Given the description of an element on the screen output the (x, y) to click on. 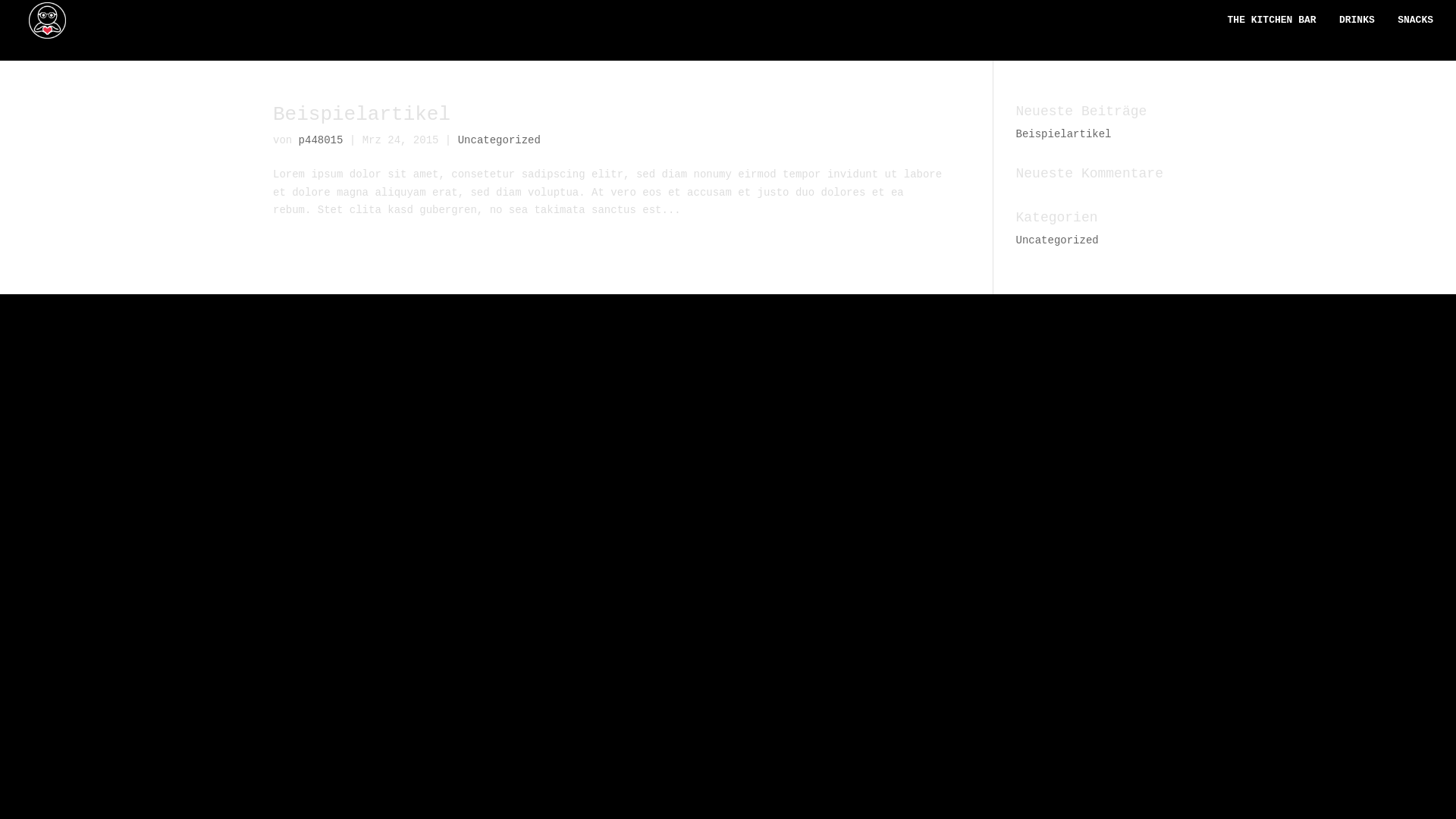
Uncategorized Element type: text (499, 140)
SNACKS Element type: text (1415, 27)
THE KITCHEN BAR Element type: text (1271, 27)
Beispielartikel Element type: text (361, 114)
Uncategorized Element type: text (1057, 240)
p448015 Element type: text (320, 140)
Beispielartikel Element type: text (1063, 134)
DRINKS Element type: text (1356, 27)
